Given the description of an element on the screen output the (x, y) to click on. 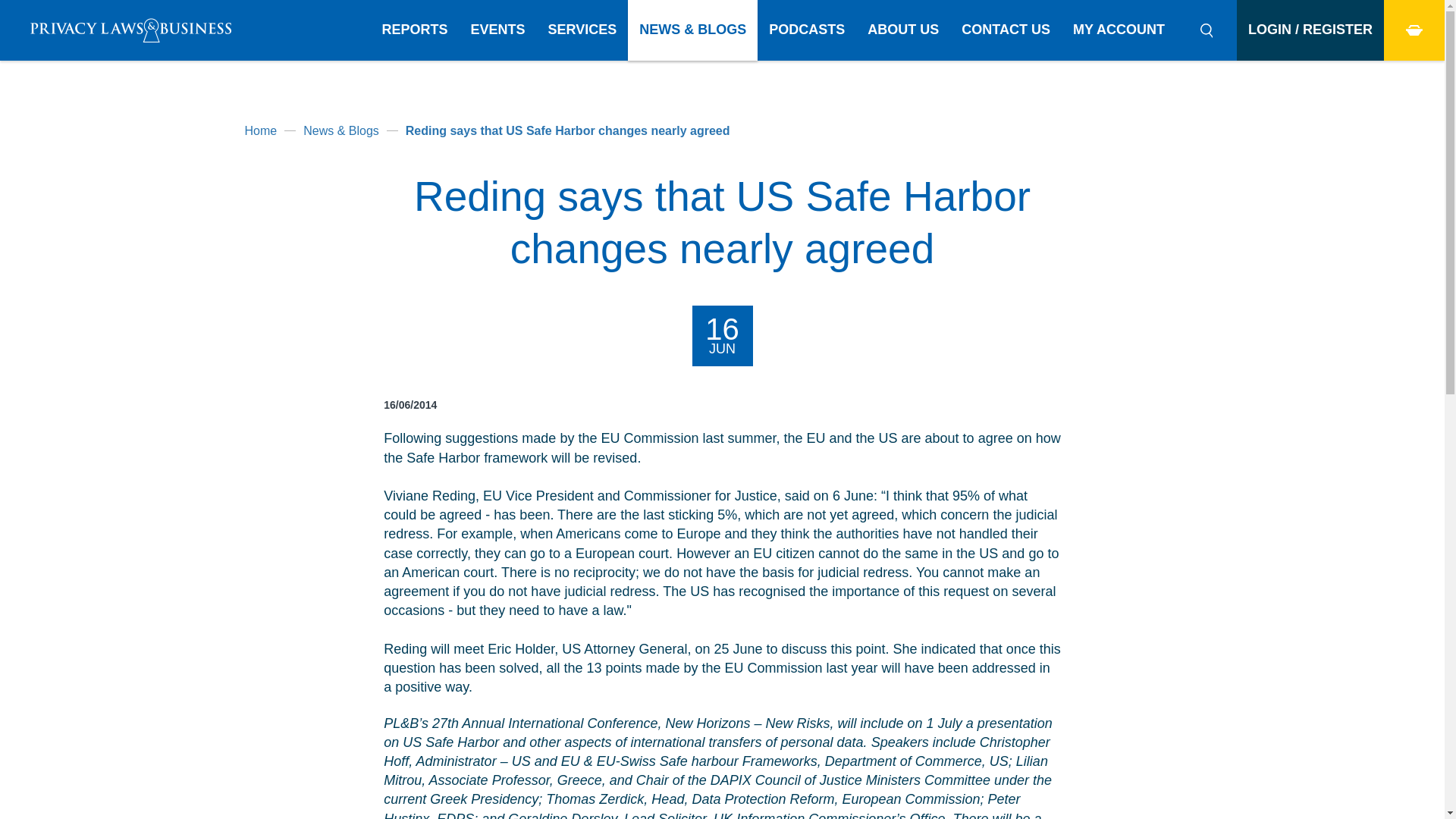
REPORTS (415, 30)
CONTACT US (1005, 30)
PODCASTS (806, 30)
EVENTS (498, 30)
SERVICES (582, 30)
ABOUT US (903, 30)
MY ACCOUNT (1118, 30)
Home (260, 130)
Reding says that US Safe Harbor changes nearly agreed (568, 130)
